Given the description of an element on the screen output the (x, y) to click on. 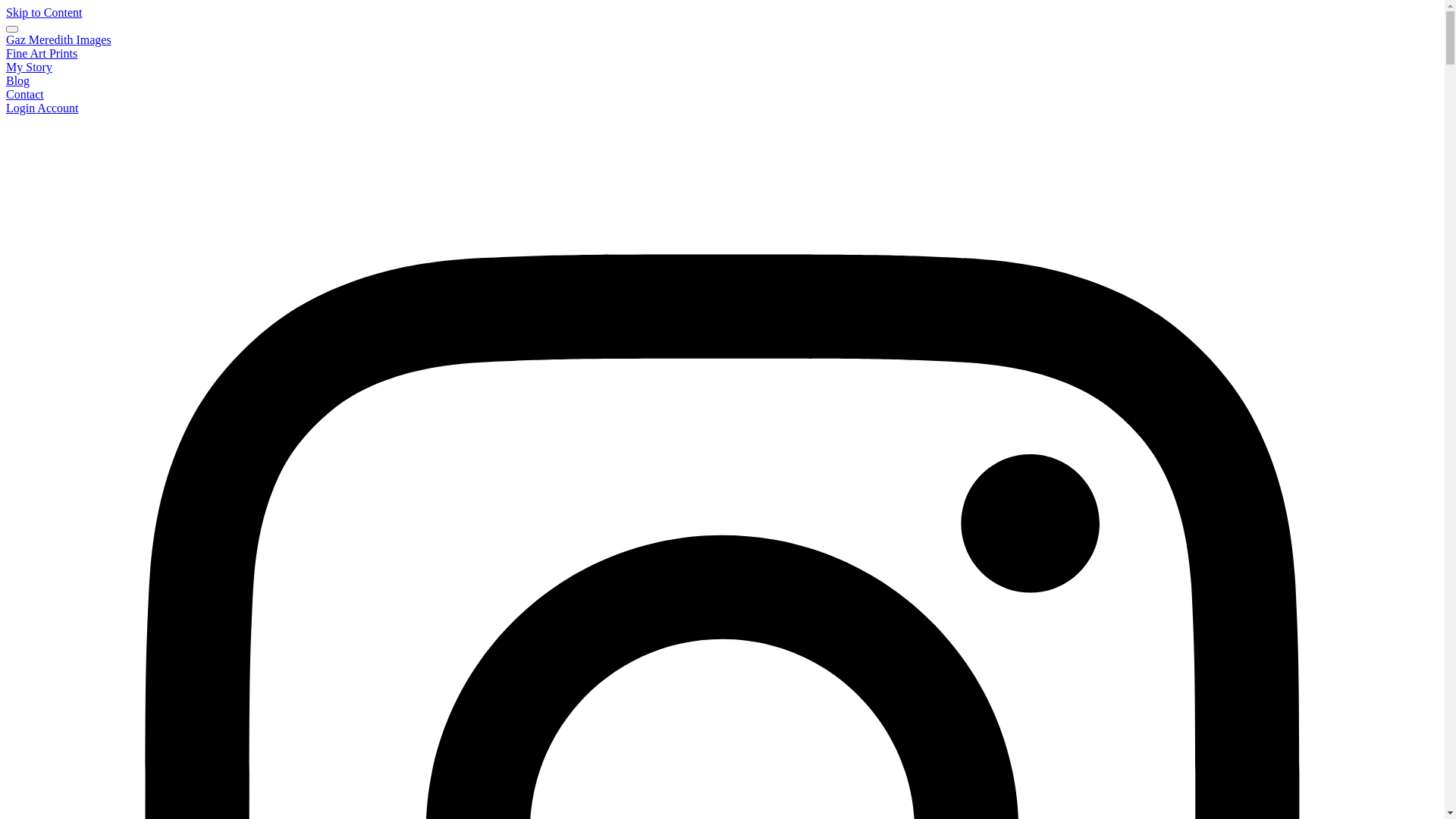
Fine Art Prints Element type: text (41, 53)
Contact Element type: text (24, 93)
Login Account Element type: text (42, 107)
My Story Element type: text (29, 66)
Gaz Meredith Images Element type: text (58, 39)
Blog Element type: text (17, 80)
Skip to Content Element type: text (43, 12)
